Given the description of an element on the screen output the (x, y) to click on. 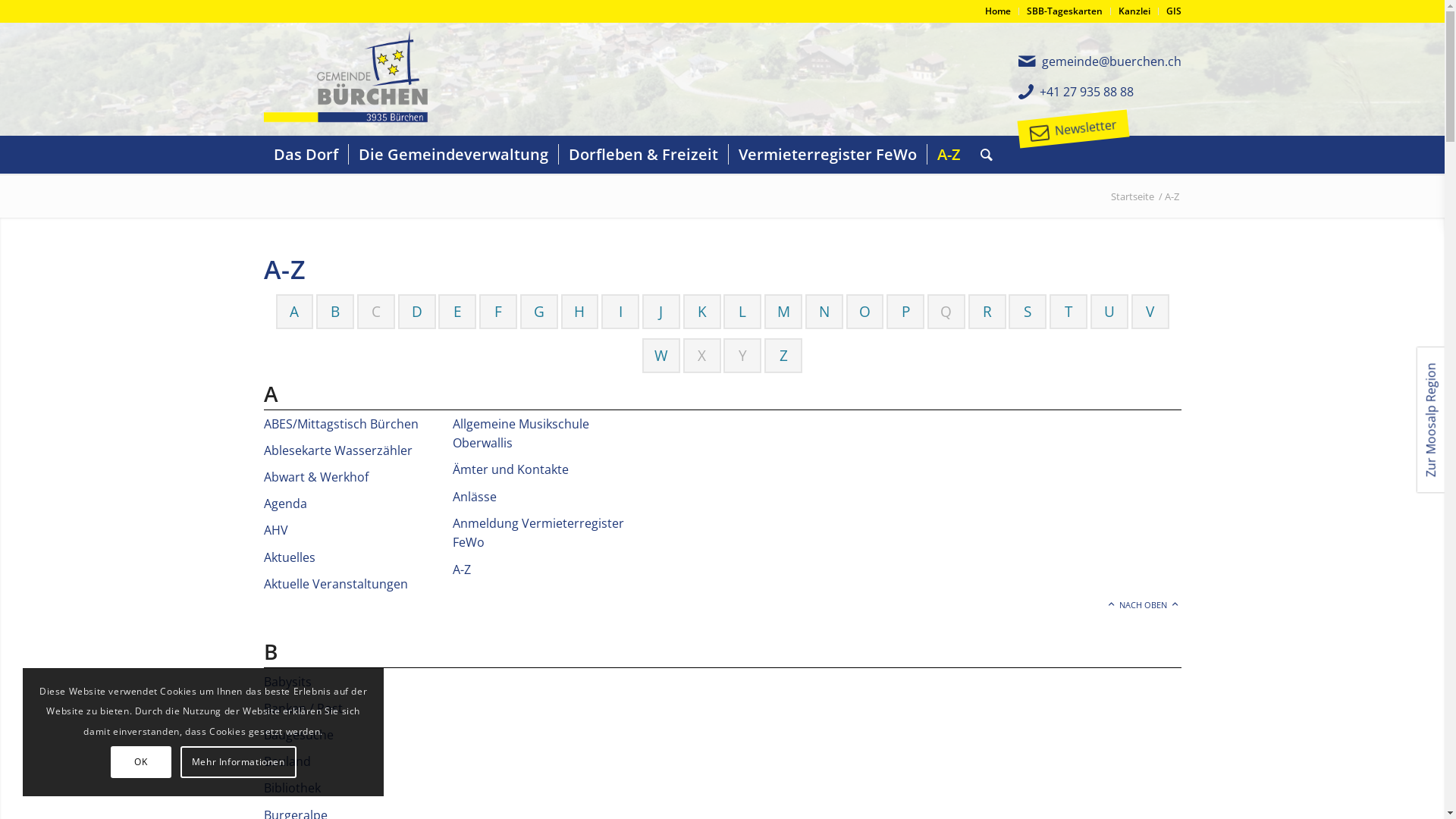
G Element type: text (538, 311)
A-Z Element type: text (948, 154)
Bauland Element type: text (286, 761)
A Element type: text (293, 311)
Aktuelles Element type: text (289, 557)
P Element type: text (905, 311)
F Element type: text (498, 311)
V Element type: text (1149, 311)
E Element type: text (457, 311)
OK Element type: text (140, 762)
S Element type: text (1027, 311)
Agenda Element type: text (285, 503)
J Element type: text (660, 311)
AHV Element type: text (275, 529)
Banken / Post Element type: text (302, 707)
U Element type: text (1109, 311)
M Element type: text (783, 311)
Babysits Element type: text (287, 681)
gemeinde@buerchen.ch Element type: text (1111, 61)
NACH OBEN Element type: text (1143, 604)
O Element type: text (864, 311)
Newsletter Element type: text (1084, 124)
A-Z Element type: text (461, 569)
Die Gemeindeverwaltung Element type: text (452, 154)
B Element type: text (334, 311)
Dorfleben & Freizeit Element type: text (643, 154)
K Element type: text (701, 311)
Startseite Element type: text (1132, 196)
logo-gemeinde Element type: hover (355, 78)
H Element type: text (579, 311)
N Element type: text (824, 311)
W Element type: text (661, 355)
R Element type: text (986, 311)
Mehr Informationen Element type: text (238, 762)
I Element type: text (620, 311)
D Element type: text (416, 311)
Z Element type: text (783, 355)
Baugesuche Element type: text (298, 734)
Das Dorf Element type: text (305, 154)
Anmeldung Vermieterregister FeWo Element type: text (538, 532)
Abwart & Werkhof Element type: text (315, 476)
Vermieterregister FeWo Element type: text (827, 154)
Allgemeine Musikschule Oberwallis Element type: text (520, 433)
L Element type: text (742, 311)
Aktuelle Veranstaltungen Element type: text (335, 583)
+41 27 935 88 88 Element type: text (1085, 91)
Bibliothek Element type: text (291, 787)
T Element type: text (1068, 311)
